Given the description of an element on the screen output the (x, y) to click on. 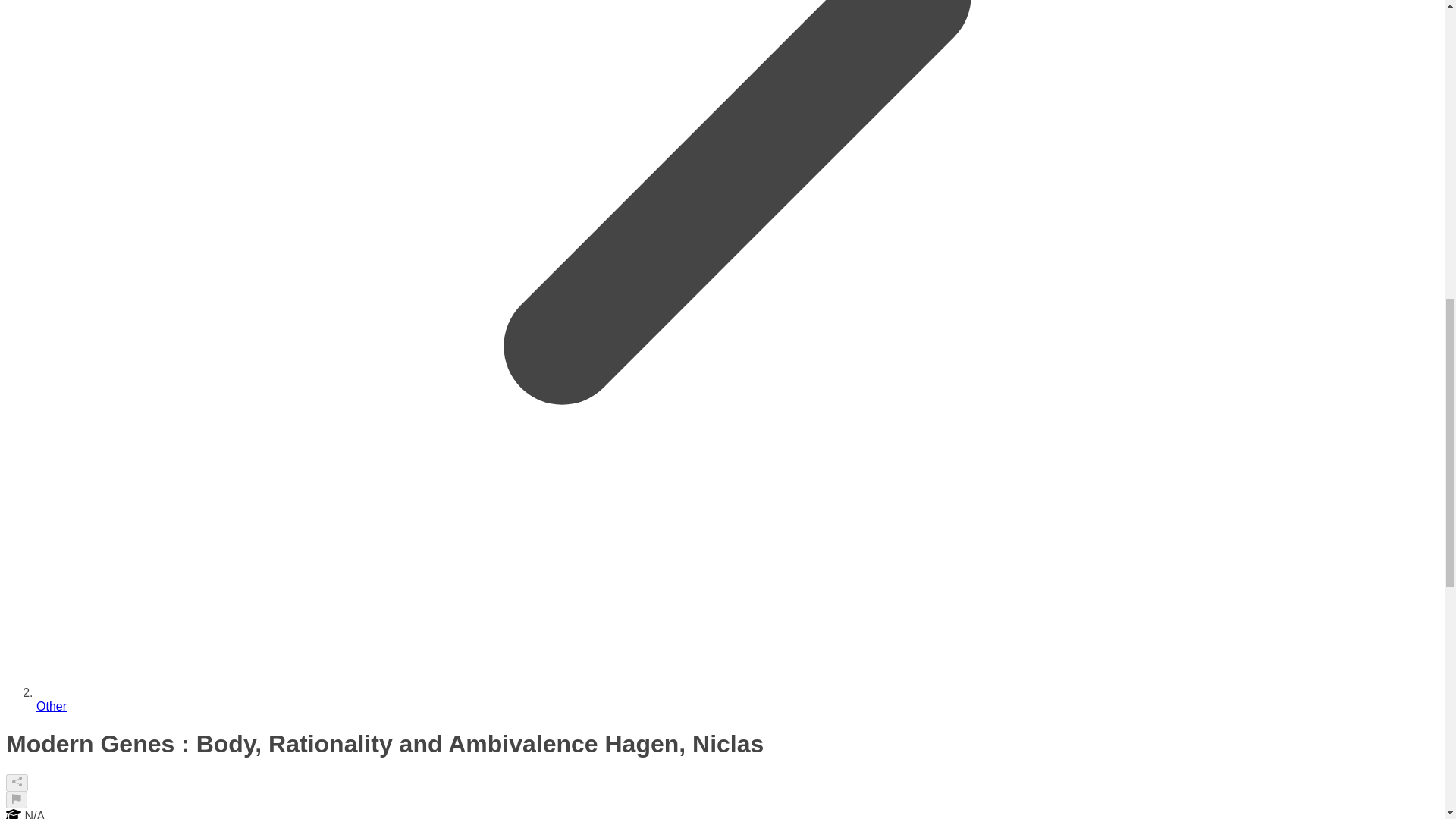
Share (16, 782)
Other (51, 706)
Report (16, 799)
